Given the description of an element on the screen output the (x, y) to click on. 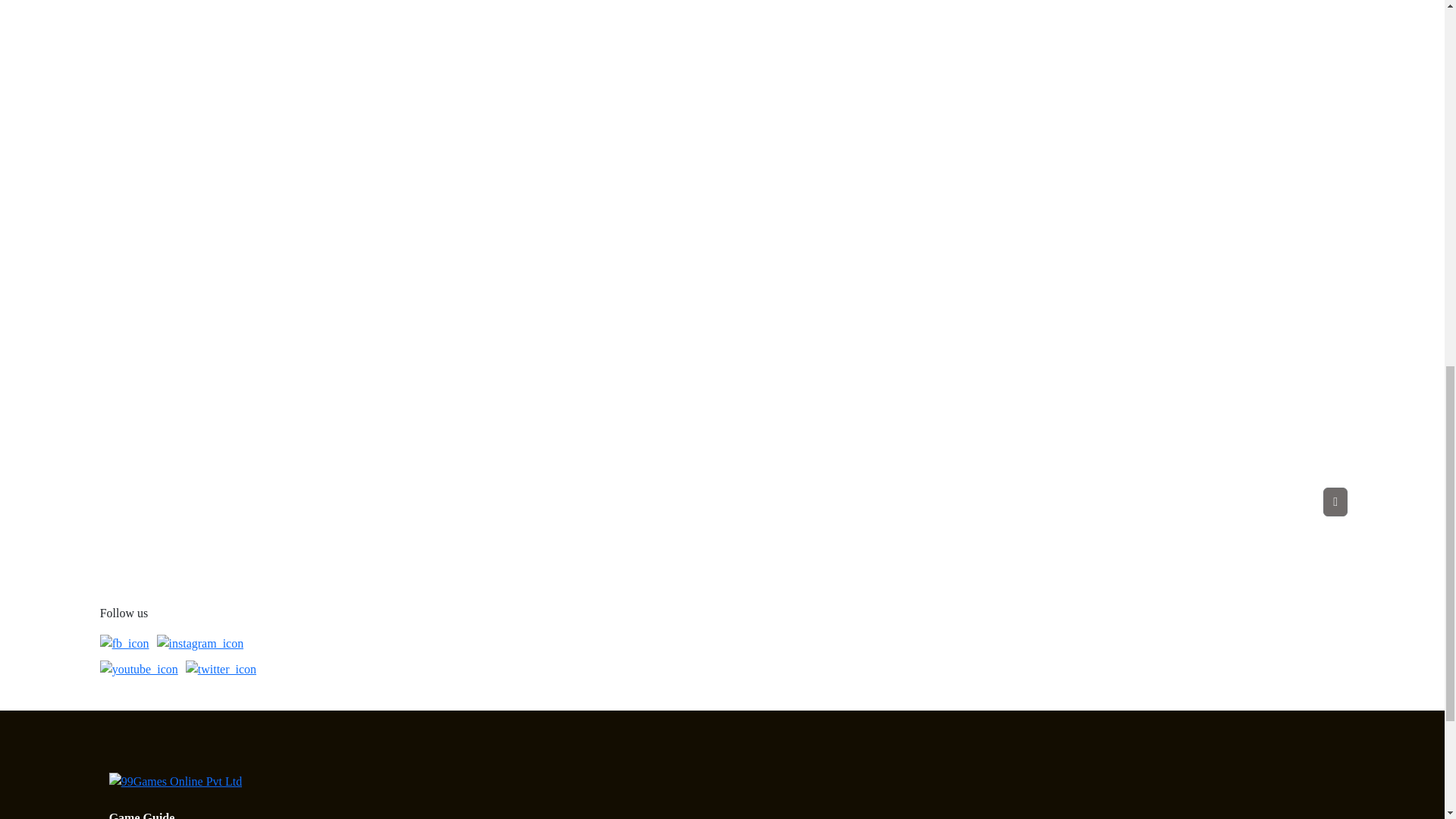
Game Guide (141, 815)
